Given the description of an element on the screen output the (x, y) to click on. 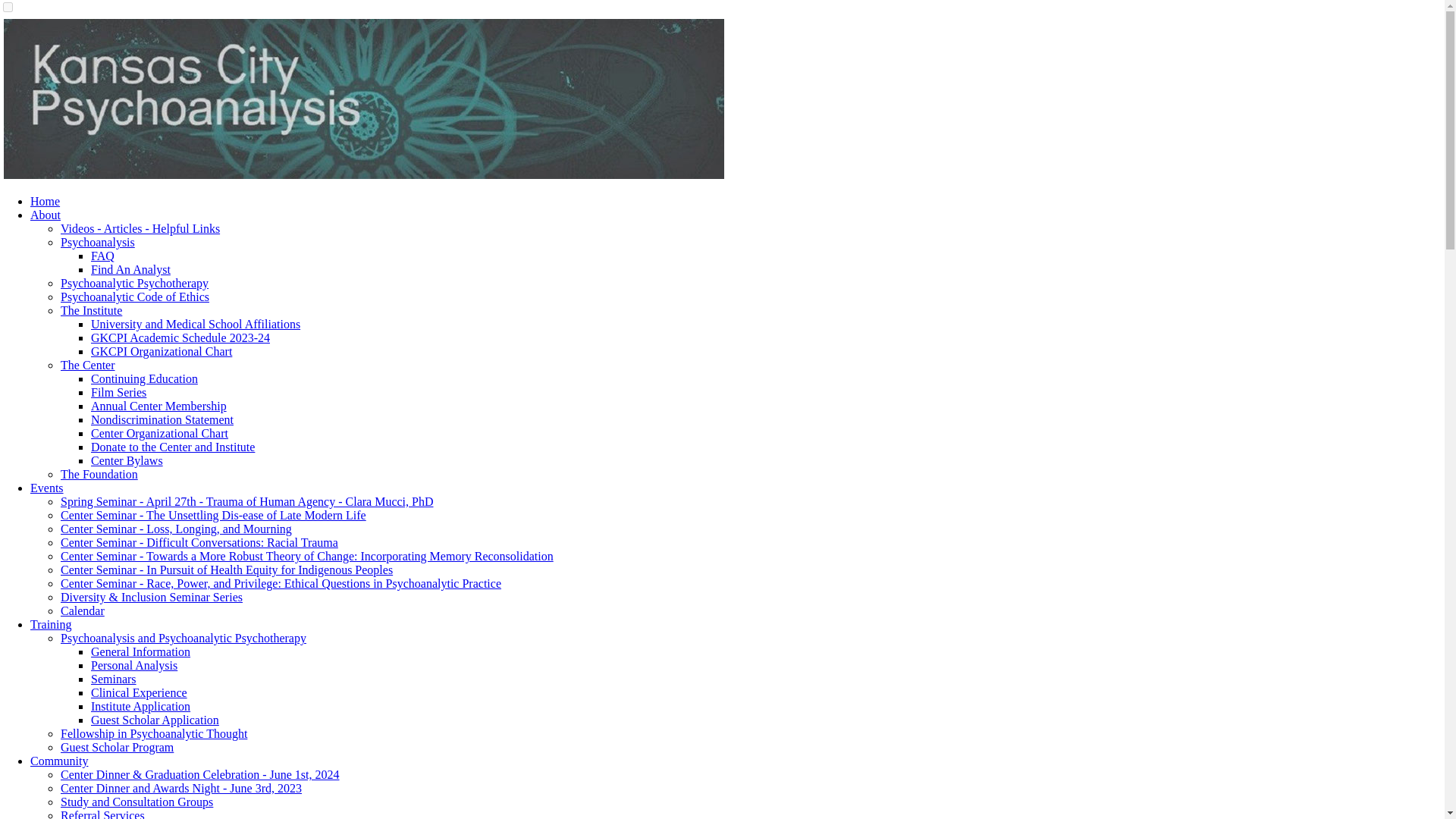
Events (47, 487)
The Institute (91, 309)
About (45, 214)
Psychoanalysis (98, 241)
Calendar (82, 610)
Center Seminar - The Unsettling Dis-ease of Late Modern Life (213, 514)
University and Medical School Affiliations (194, 323)
Continuing Education (144, 378)
Center Organizational Chart (159, 432)
Guest Scholar Application (154, 719)
Film Series (118, 391)
Psychoanalytic Code of Ethics (135, 296)
FAQ (102, 255)
Nondiscrimination Statement (161, 419)
